Given the description of an element on the screen output the (x, y) to click on. 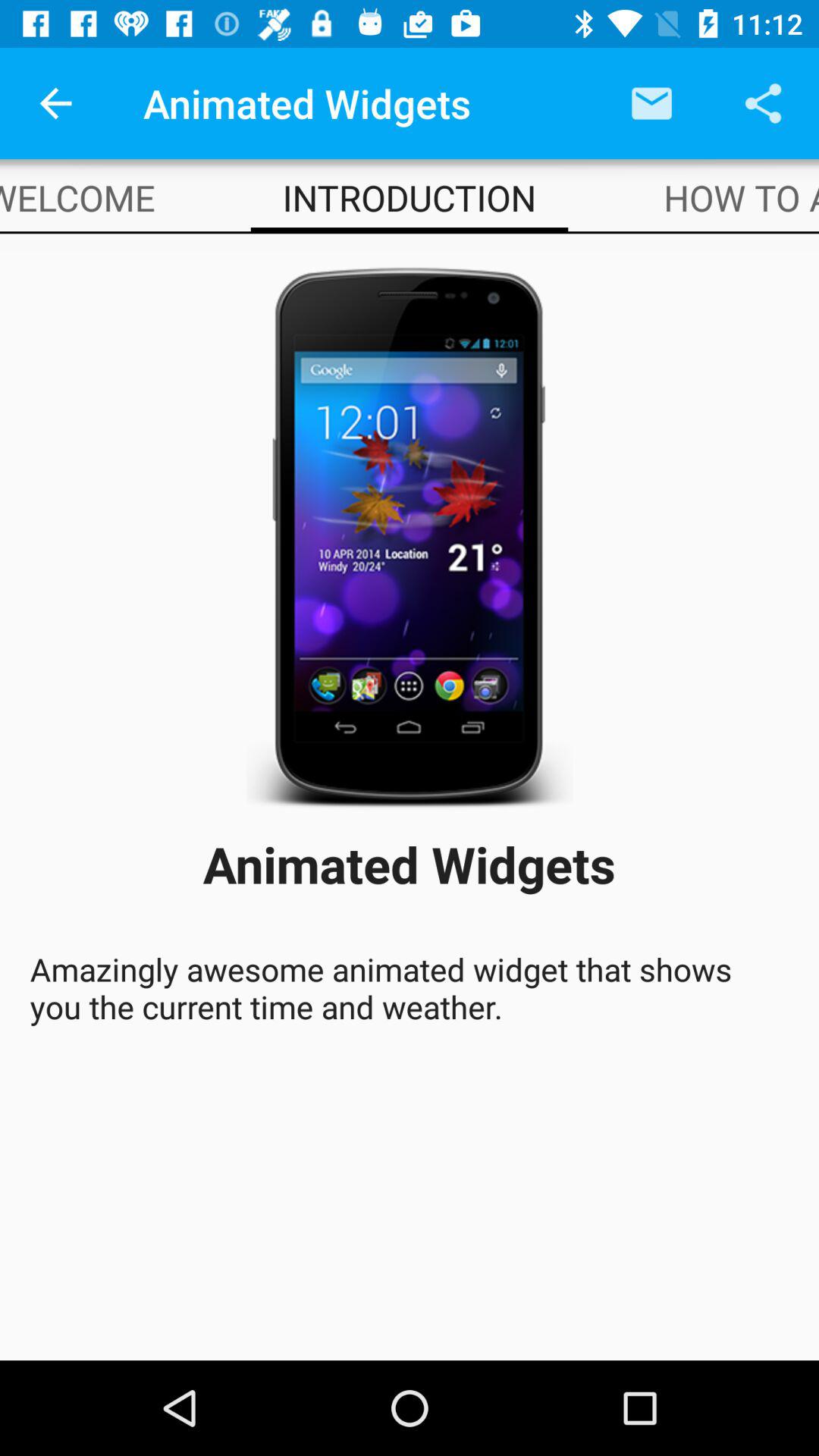
open icon to the right of the animated widgets (651, 103)
